Given the description of an element on the screen output the (x, y) to click on. 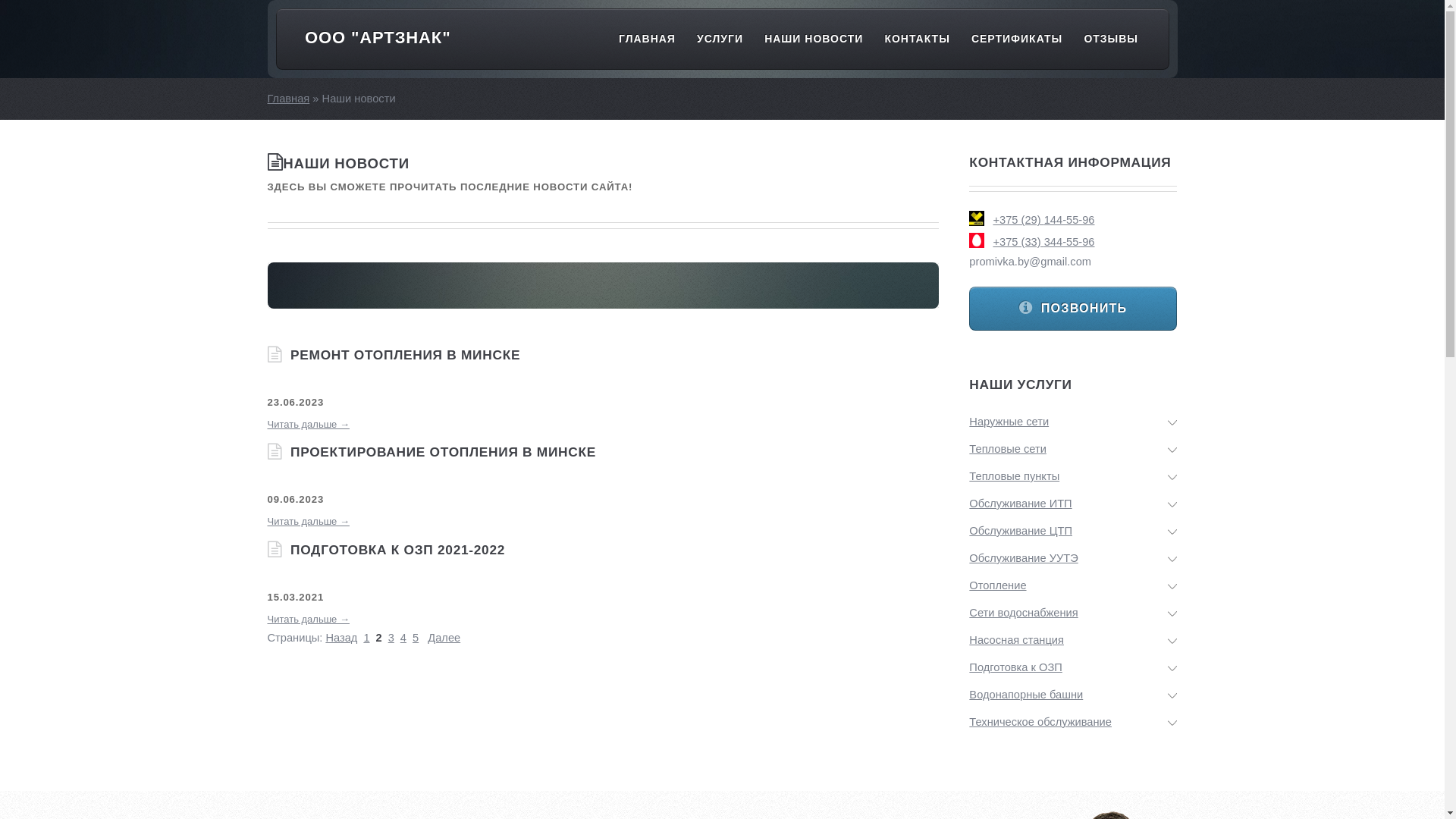
+375 (29) 144-55-96 Element type: text (1043, 219)
+375 (33) 344-55-96 Element type: text (1043, 241)
1 Element type: text (366, 637)
3 Element type: text (391, 637)
5 Element type: text (415, 637)
4 Element type: text (403, 637)
+375 (33) 344-55-96 Element type: text (1072, 241)
+375 (29) 144-55-96 Element type: text (1072, 219)
